Given the description of an element on the screen output the (x, y) to click on. 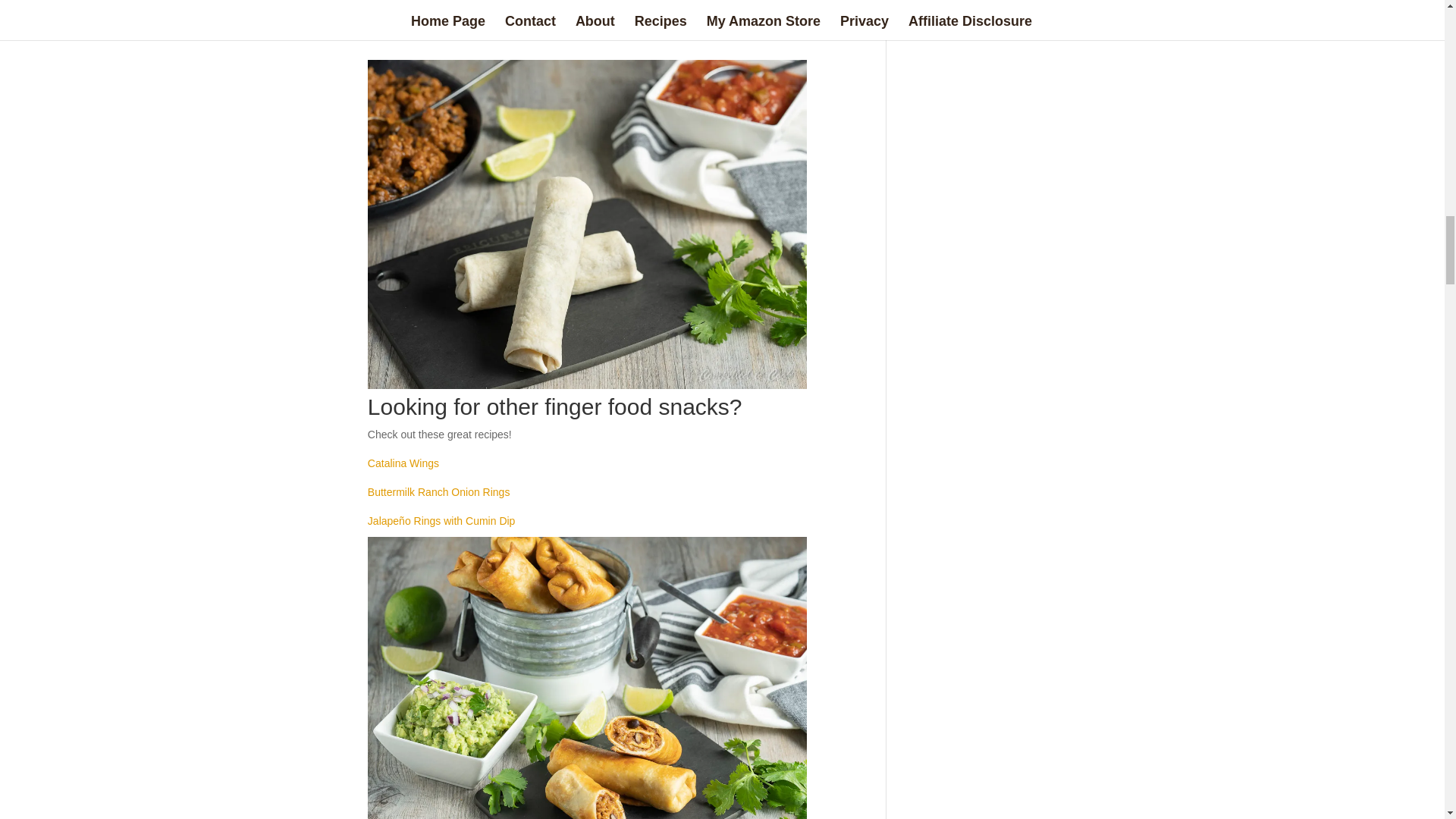
Catalina Wings (403, 463)
Buttermilk Ranch Onion Rings (439, 491)
